Given the description of an element on the screen output the (x, y) to click on. 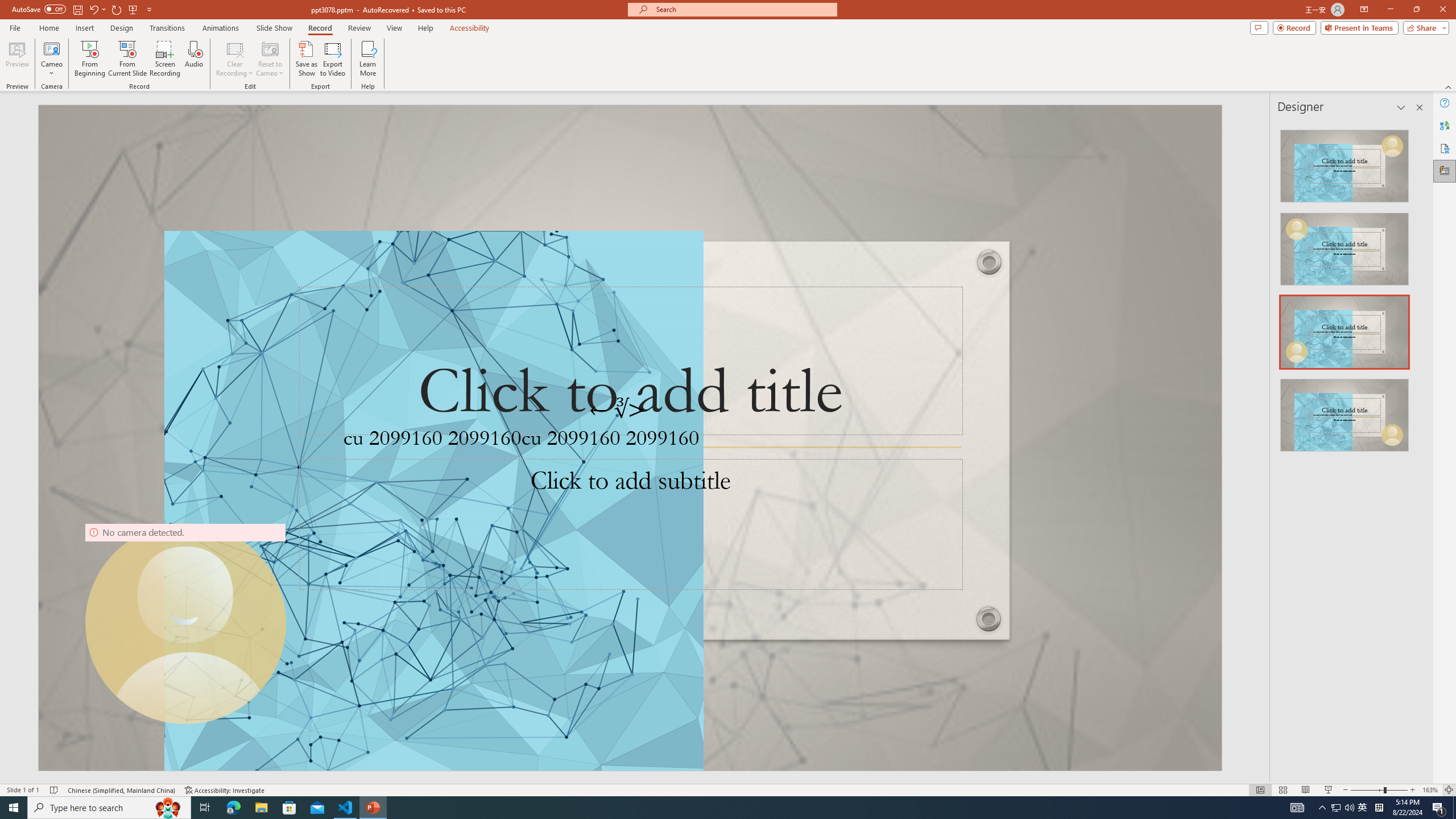
TextBox 7 (617, 409)
Translator (1444, 125)
Zoom 163% (1430, 790)
Title TextBox (630, 360)
